Given the description of an element on the screen output the (x, y) to click on. 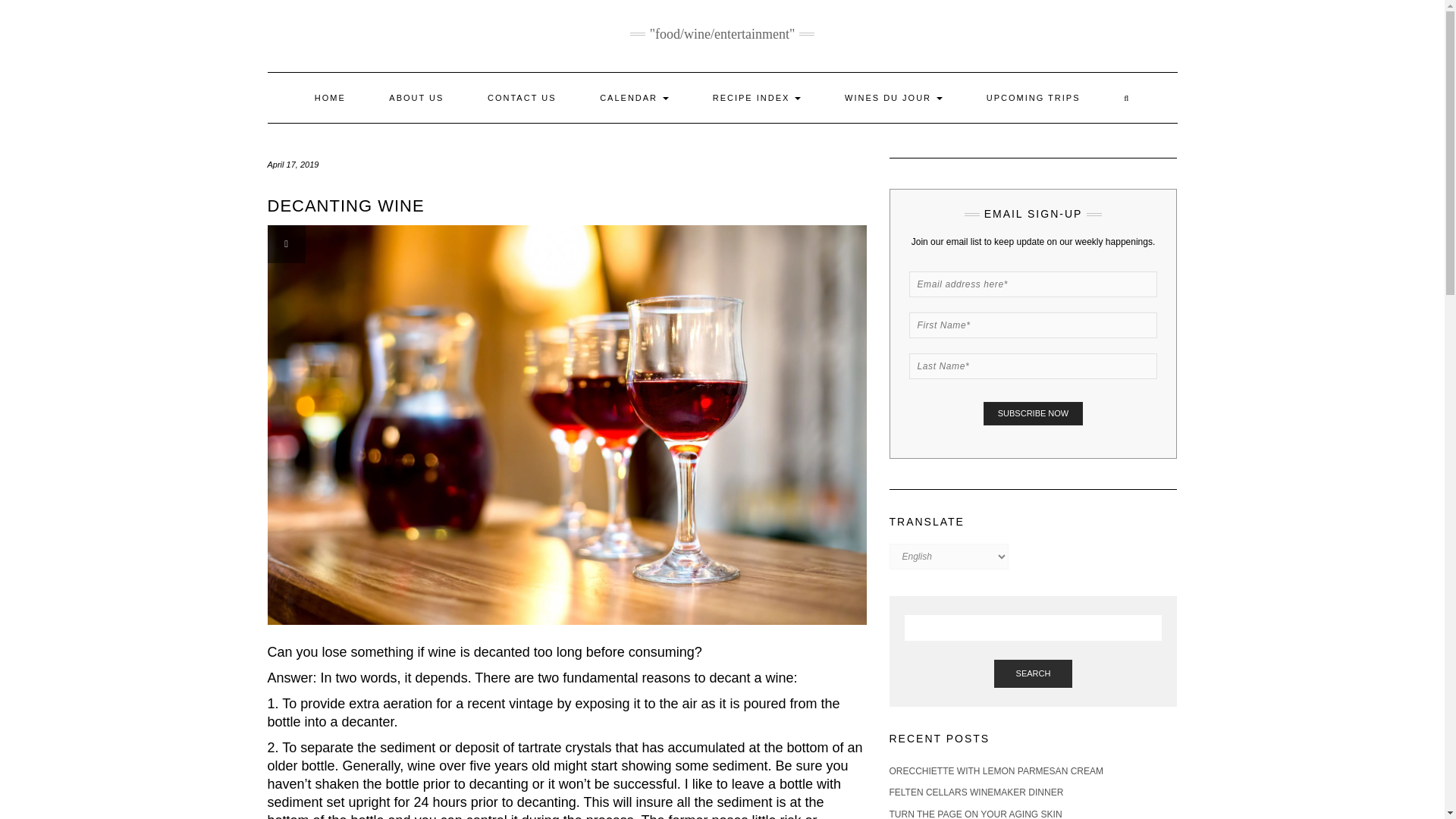
RECIPE INDEX (757, 97)
ABOUT US (416, 97)
CONTACT US (521, 97)
CALENDAR (633, 97)
UPCOMING TRIPS (1033, 97)
Subscribe now (1033, 413)
WINES DU JOUR (893, 97)
HOME (330, 97)
